Given the description of an element on the screen output the (x, y) to click on. 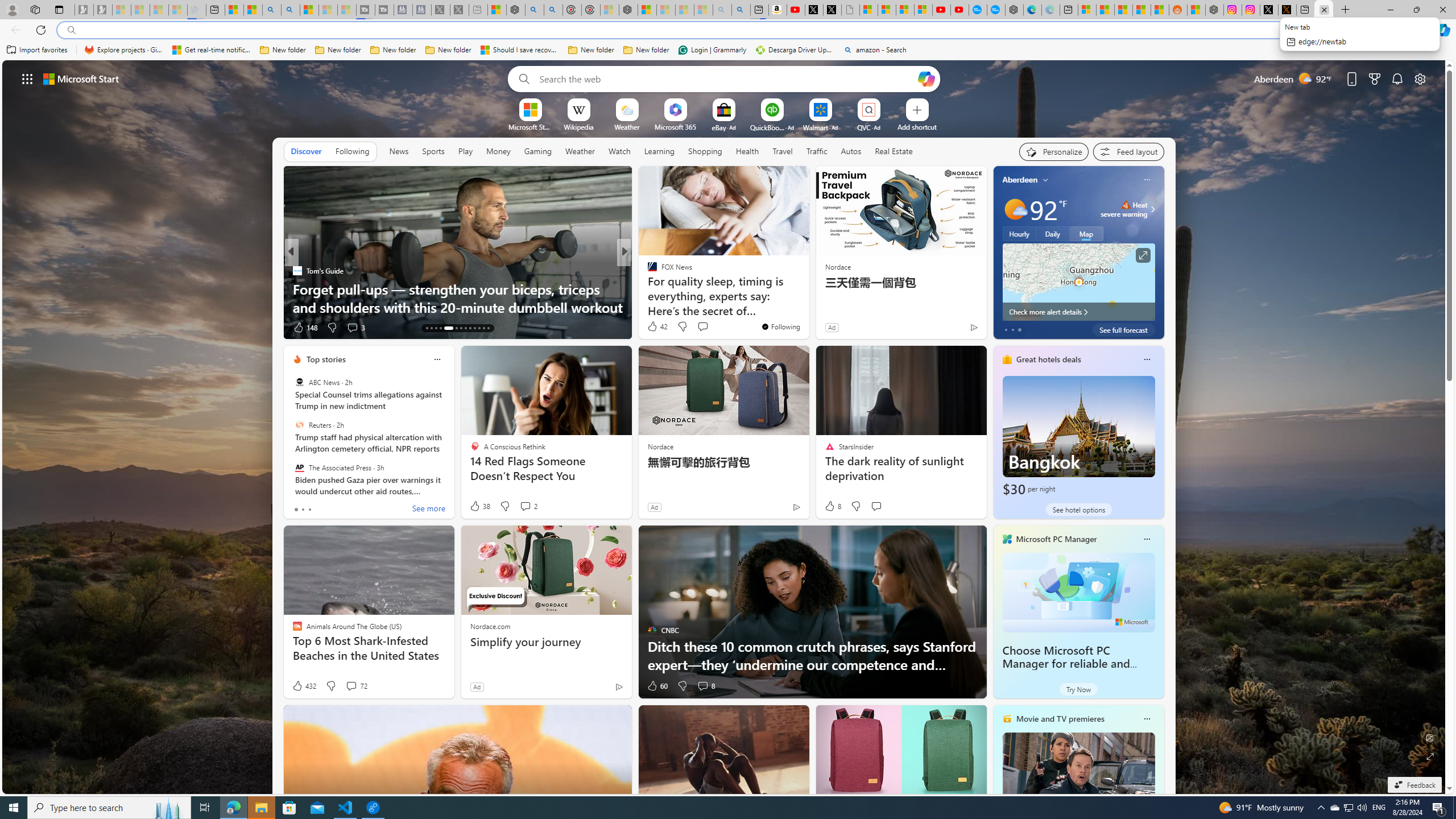
Learning (658, 151)
AutomationID: tab-18 (456, 328)
Descarga Driver Updater (794, 49)
View comments 8 Comment (703, 685)
38 Like (479, 505)
Play (465, 151)
AutomationID: tab-23 (478, 328)
Map (1085, 233)
AutomationID: tab-17 (448, 328)
